Given the description of an element on the screen output the (x, y) to click on. 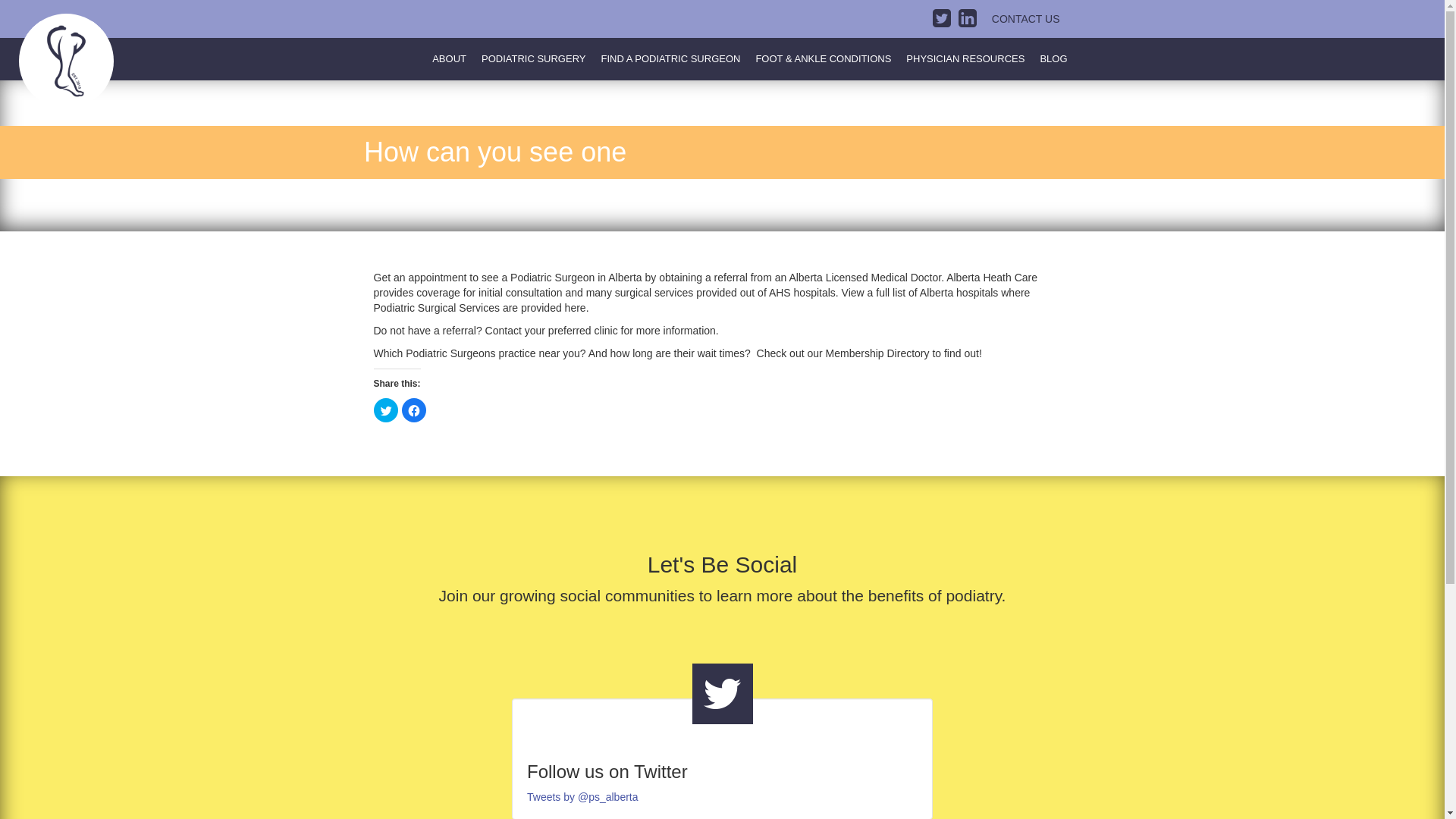
PODIATRIC SURGERY Element type: text (533, 59)
BLOG Element type: text (1053, 59)
Tweets by @ps_alberta Element type: text (582, 796)
FIND A PODIATRIC SURGEON Element type: text (670, 59)
FOOT & ANKLE CONDITIONS Element type: text (822, 59)
Click to share on Facebook (Opens in new window) Element type: text (413, 410)
ABOUT Element type: text (448, 59)
Click to share on Twitter (Opens in new window) Element type: text (385, 410)
PHYSICIAN RESOURCES Element type: text (965, 59)
CONTACT US Element type: text (1025, 18)
